Given the description of an element on the screen output the (x, y) to click on. 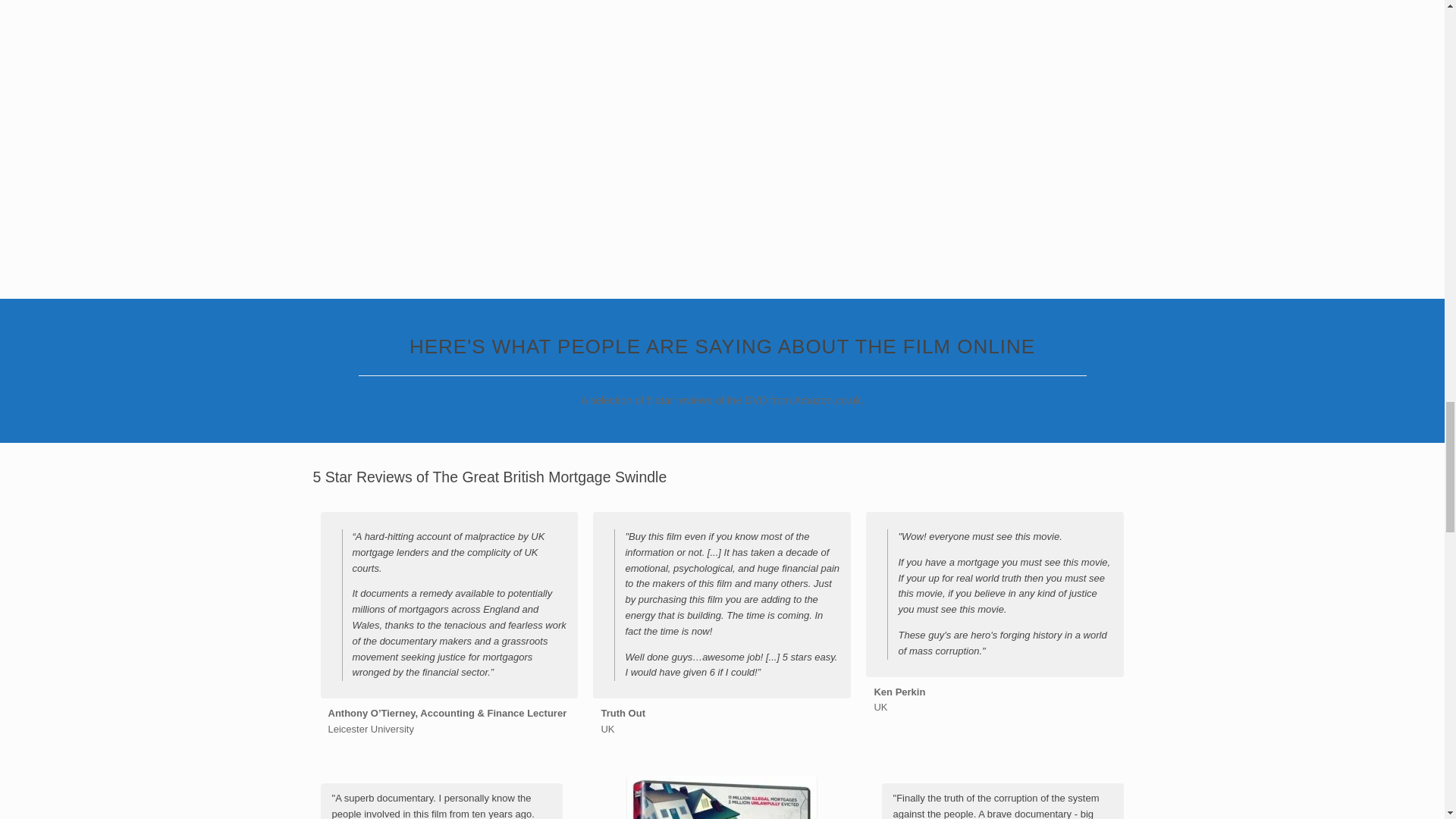
TGBMS DVD (721, 797)
